Given the description of an element on the screen output the (x, y) to click on. 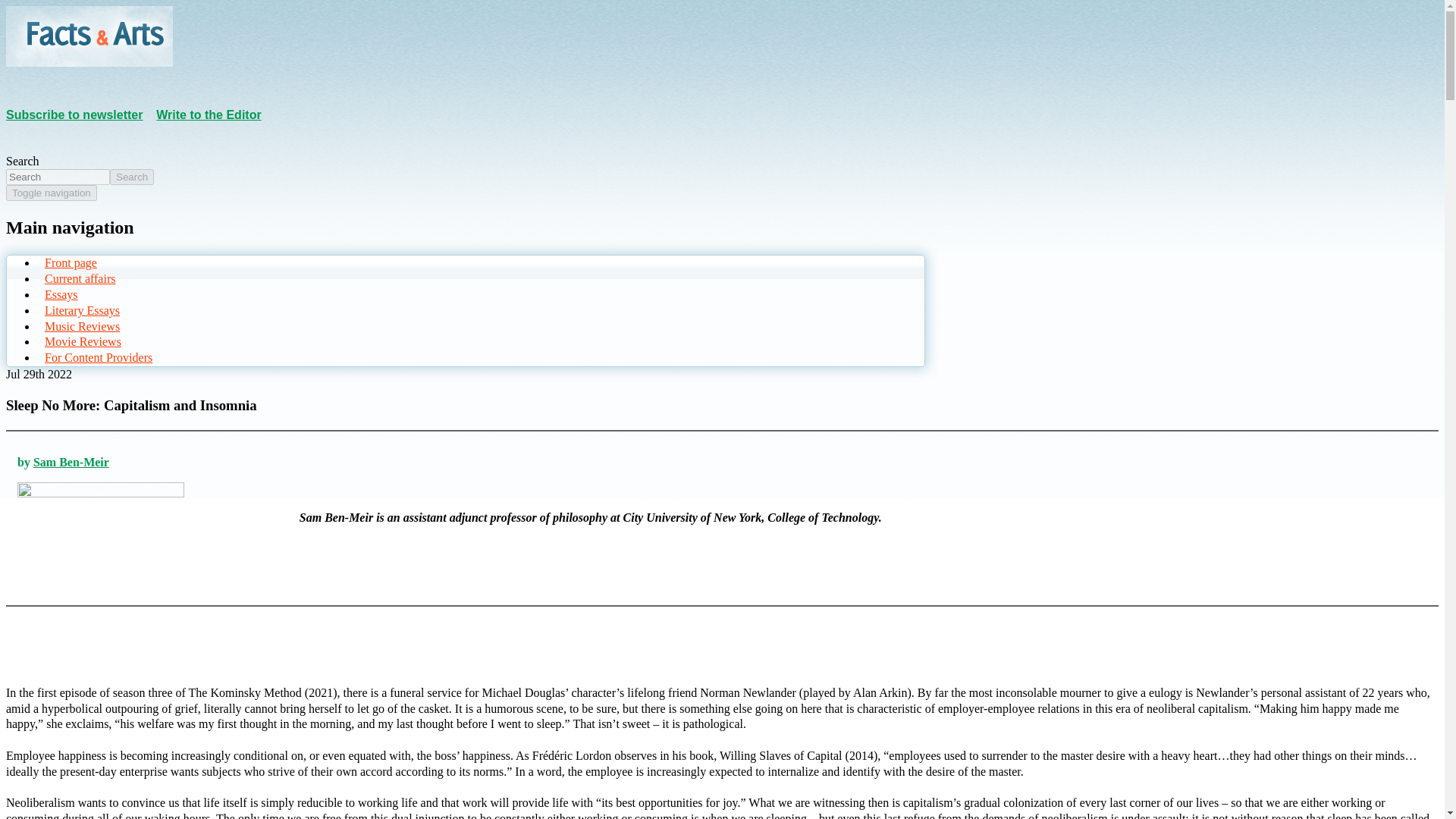
Essays (59, 294)
Literary Essays (80, 310)
Subscribe to newsletter (73, 114)
Sam Ben-Meir (71, 461)
For Content Providers (96, 357)
Toggle navigation (51, 192)
Movie Reviews (81, 341)
Search (132, 176)
Current affairs (78, 278)
Home (89, 62)
